Given the description of an element on the screen output the (x, y) to click on. 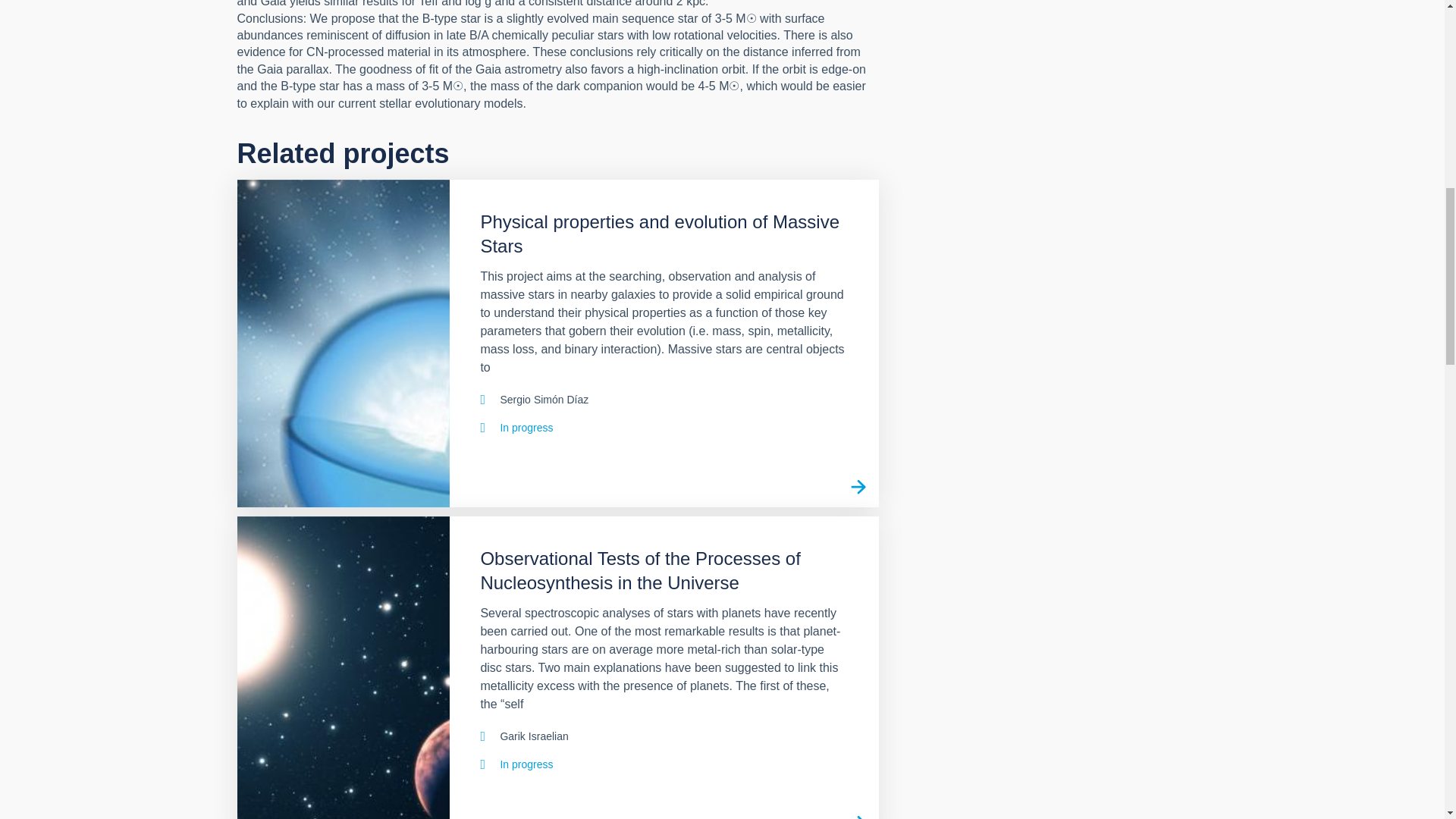
Physical properties and evolution of Massive Stars (342, 342)
Physical properties and evolution of Massive Stars (858, 486)
